Given the description of an element on the screen output the (x, y) to click on. 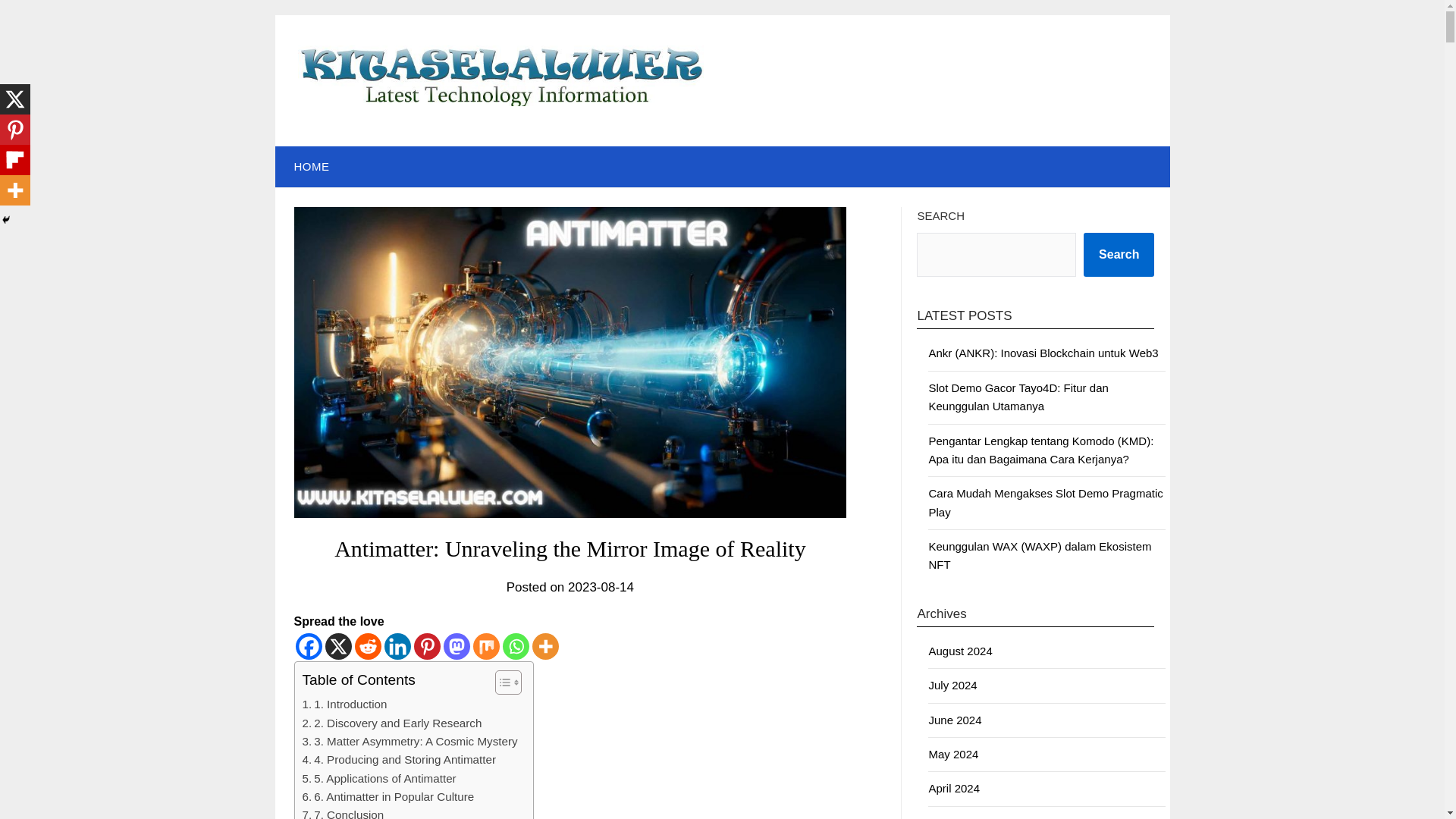
July 2024 (952, 684)
Linkedin (397, 646)
Whatsapp (515, 646)
Mastodon (455, 646)
2. Discovery and Early Research (391, 723)
4. Producing and Storing Antimatter (398, 760)
March 2024 (958, 817)
4. Producing and Storing Antimatter (398, 760)
1. Introduction (344, 704)
Slot Demo Gacor Tayo4D: Fitur dan Keunggulan Utamanya (1018, 396)
